Given the description of an element on the screen output the (x, y) to click on. 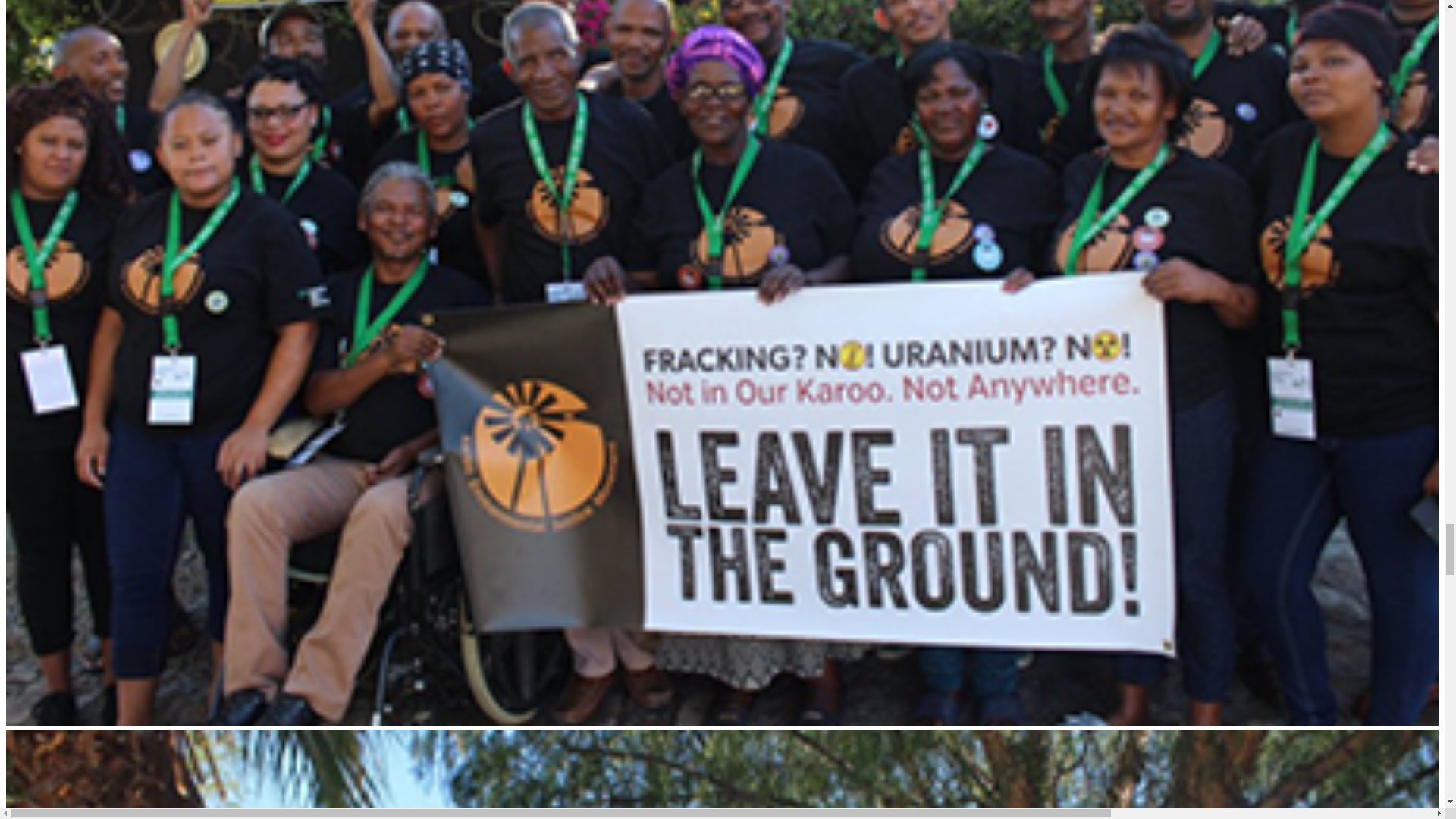
SCLC Photo Gallery (721, 774)
